Given the description of an element on the screen output the (x, y) to click on. 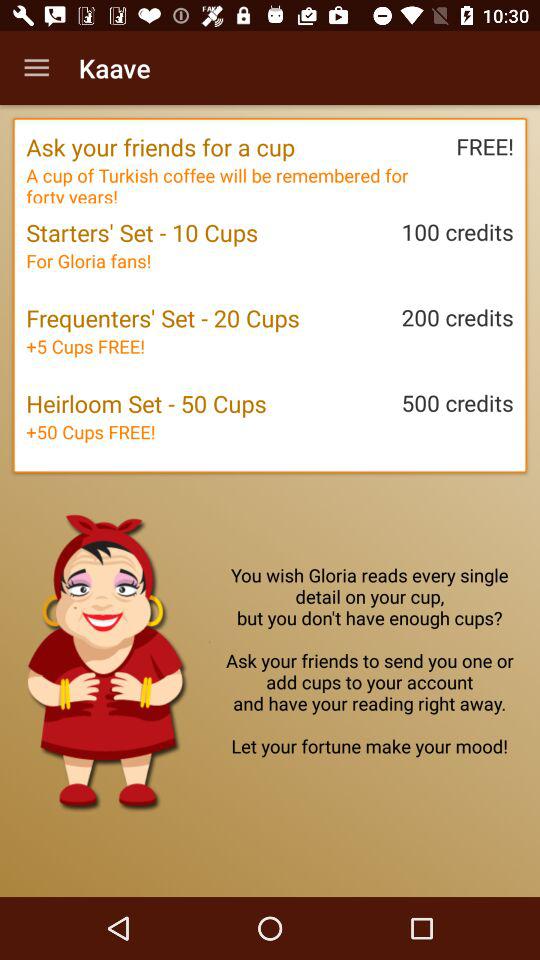
turn off icon above the ask your friends (36, 68)
